Given the description of an element on the screen output the (x, y) to click on. 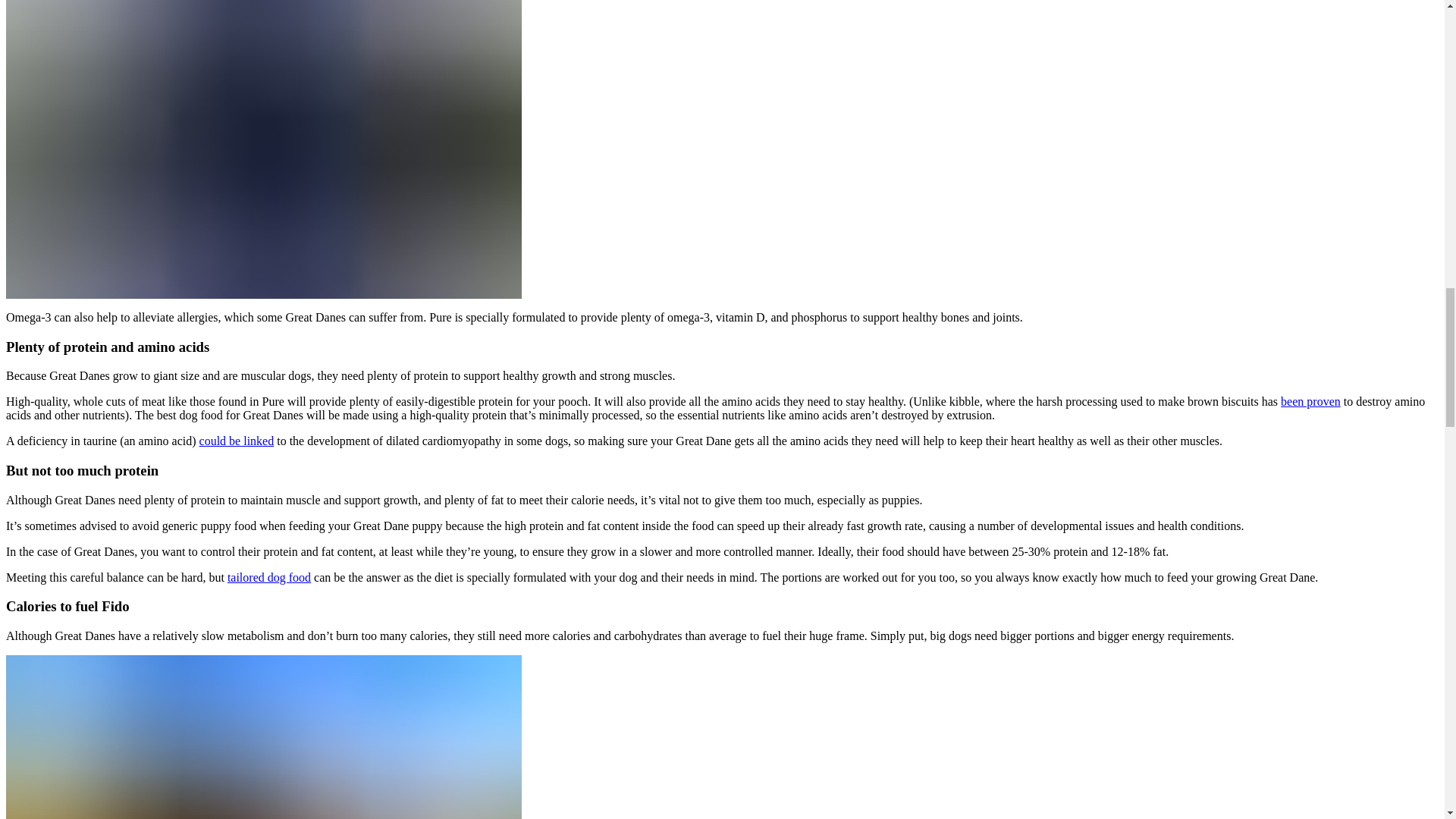
tailored dog food (269, 576)
been proven (1310, 400)
could be linked (237, 440)
